Given the description of an element on the screen output the (x, y) to click on. 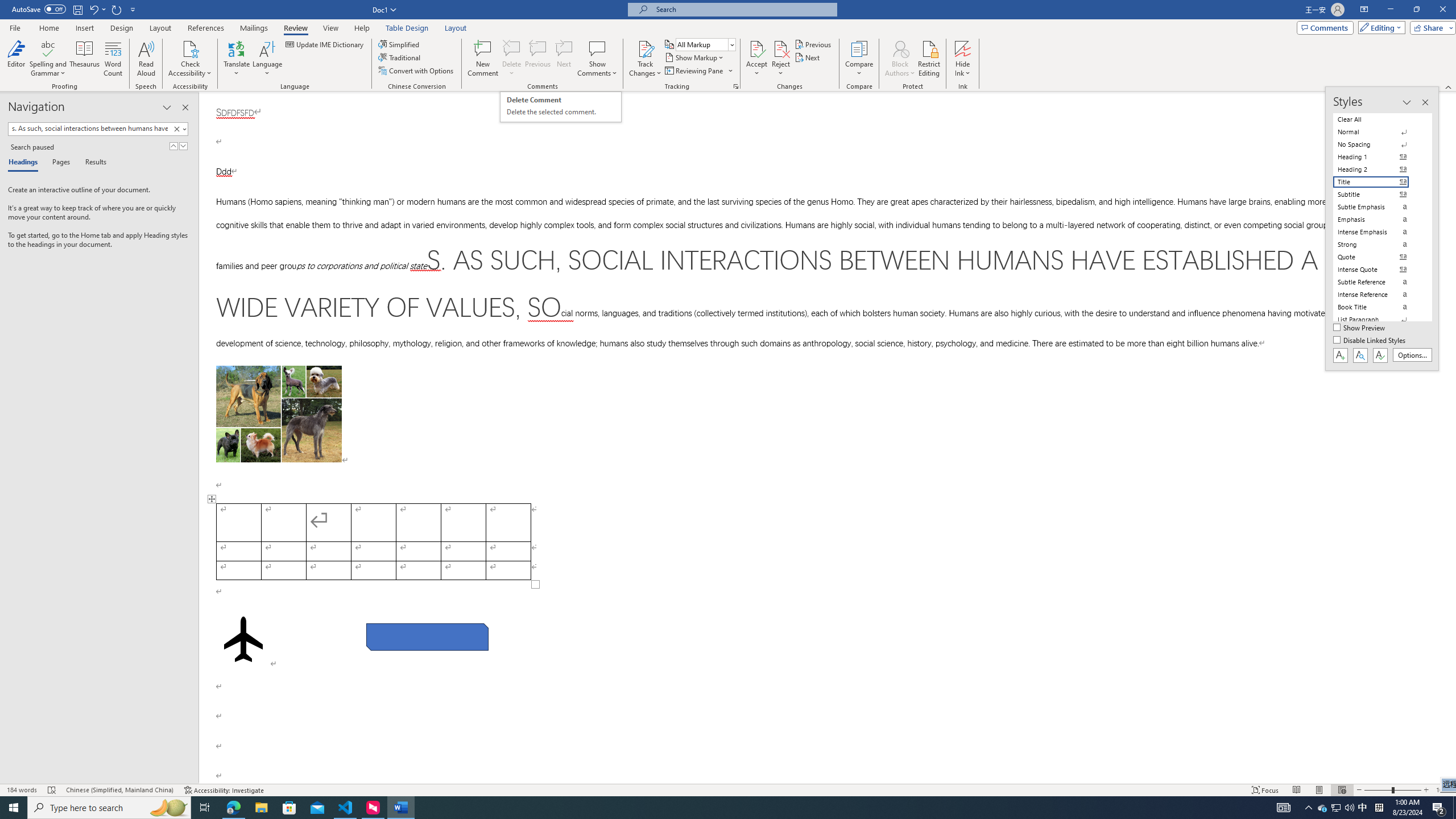
Undo Style (92, 9)
Next (808, 56)
Open (731, 44)
Zoom 100% (1443, 790)
Block Authors (560, 106)
Normal (900, 48)
Disable Linked Styles (1377, 131)
Reviewing Pane (1370, 340)
Quote (698, 69)
Word Count (1377, 256)
